Given the description of an element on the screen output the (x, y) to click on. 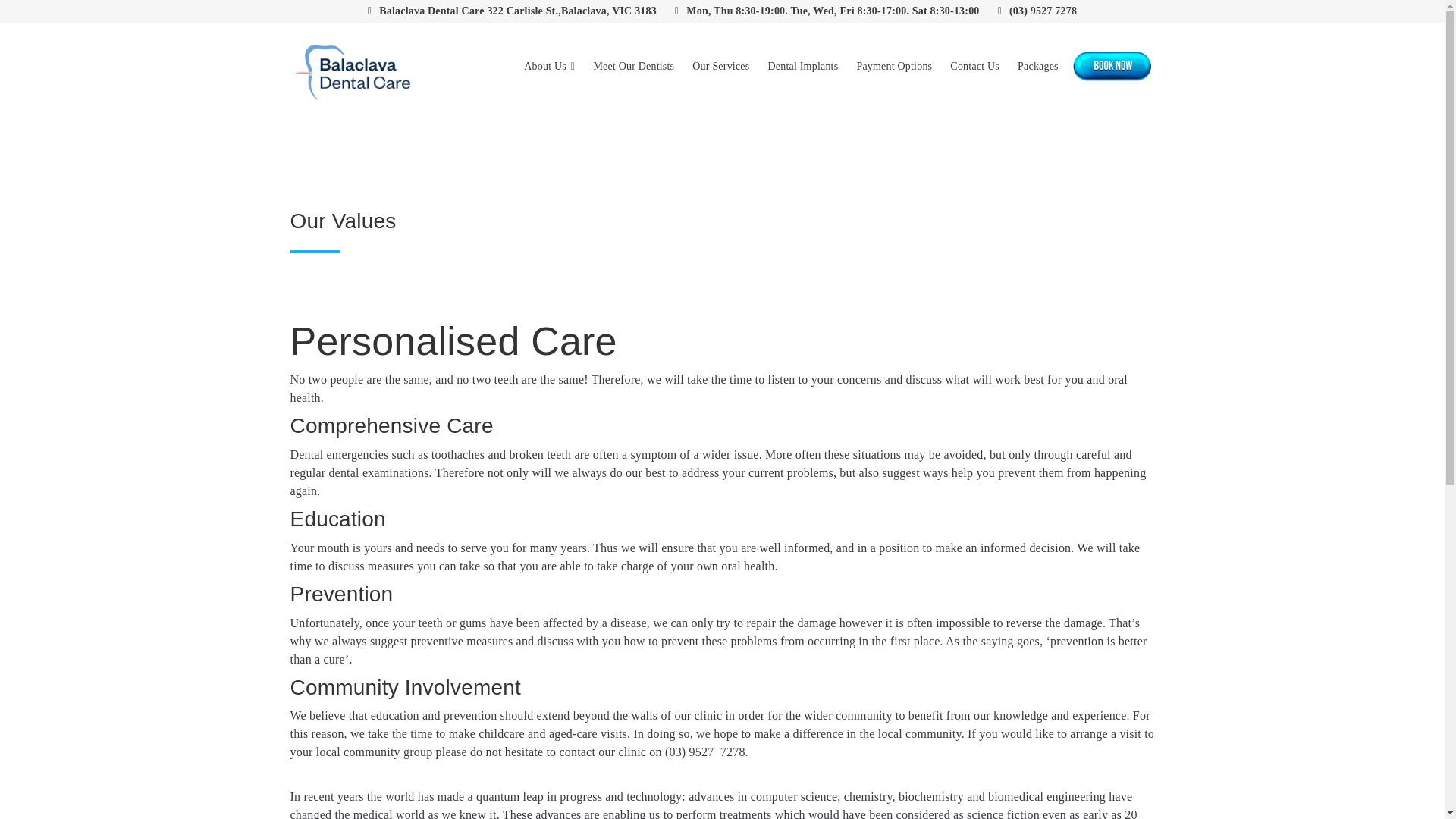
Payment Options (893, 66)
Dental Implants (802, 66)
Balaclava Dental Care 322 Carlisle St.,Balaclava, VIC 3183 (512, 11)
Online Booking (1111, 66)
Meet Our Dentists (633, 66)
